Given the description of an element on the screen output the (x, y) to click on. 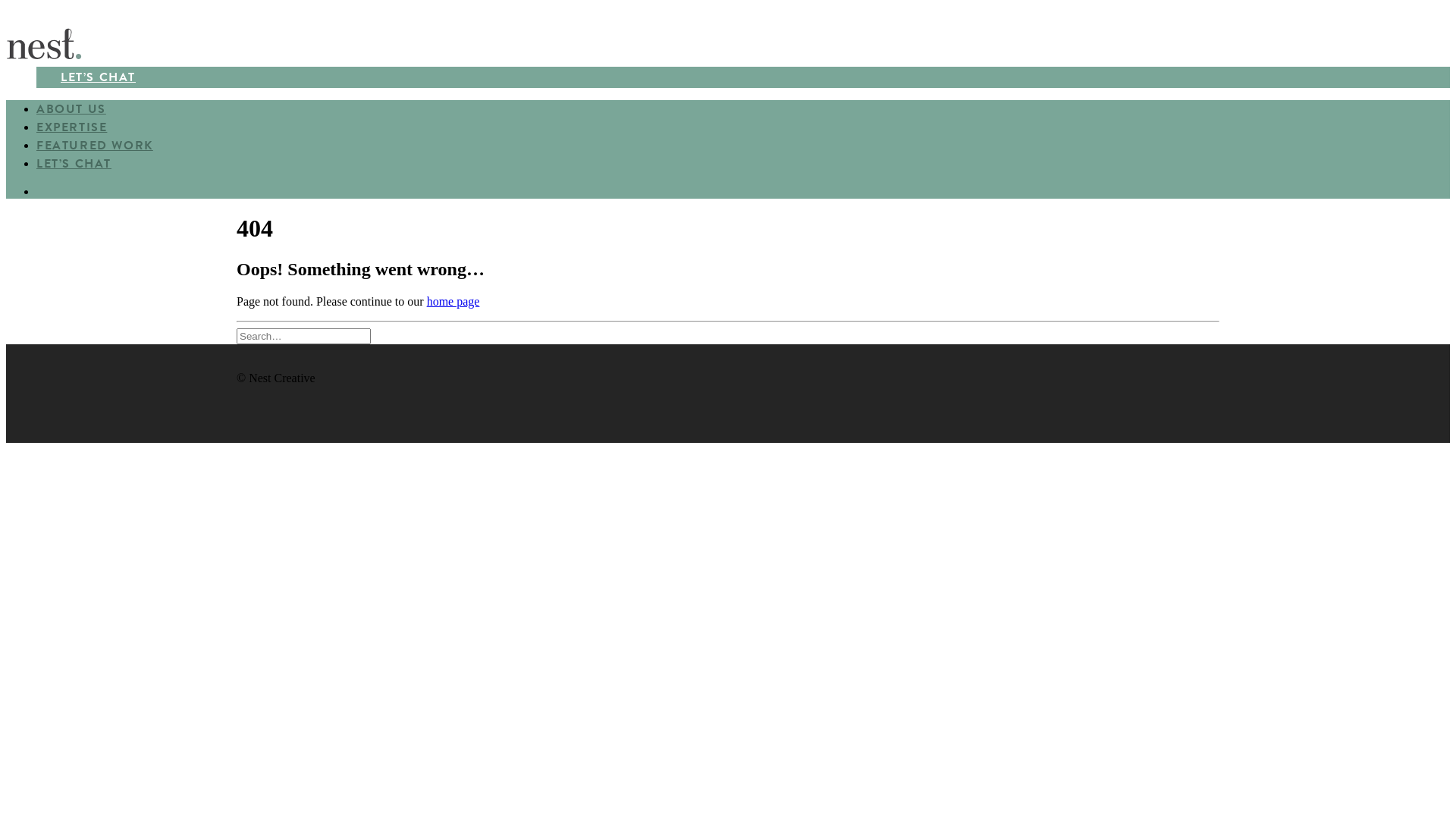
home page Element type: text (453, 300)
Search for: Element type: hover (303, 336)
FEATURED WORK Element type: text (94, 145)
EXPERTISE Element type: text (71, 127)
ABOUT US Element type: text (71, 109)
